Given the description of an element on the screen output the (x, y) to click on. 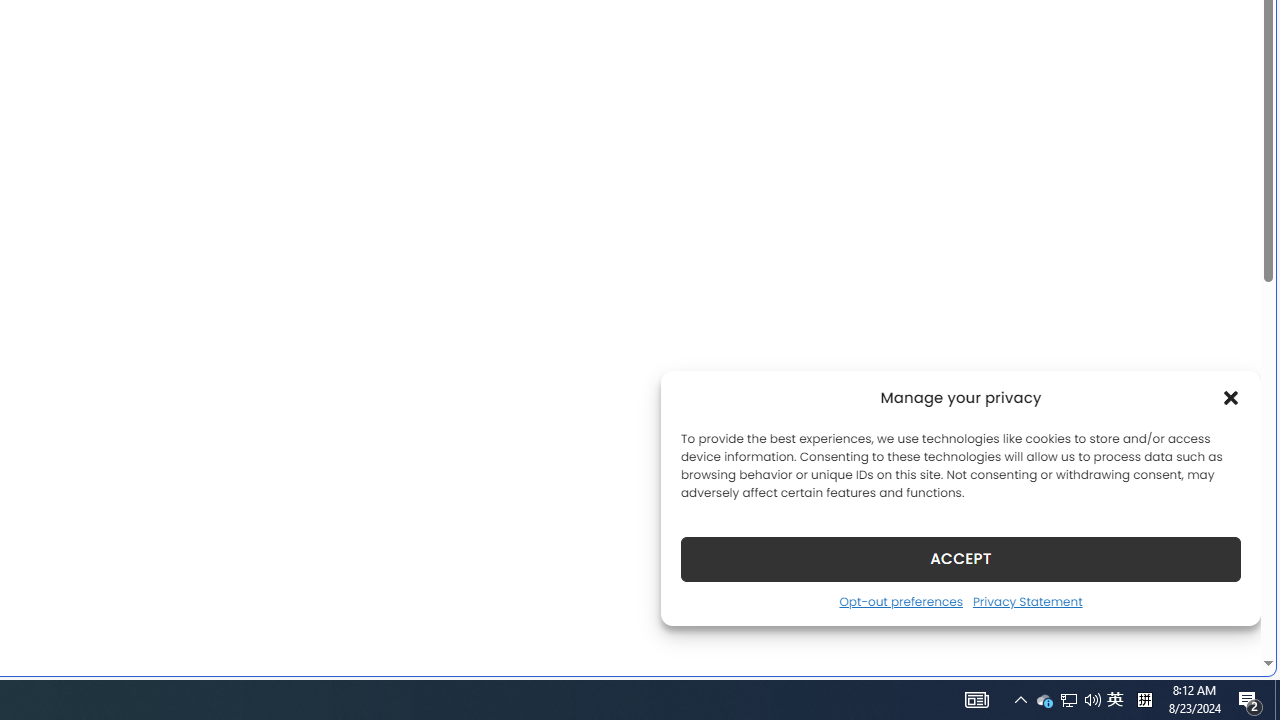
Class: cmplz-close (1231, 397)
ACCEPT (960, 558)
Opt-out preferences (900, 601)
Privacy Statement (1026, 601)
